Given the description of an element on the screen output the (x, y) to click on. 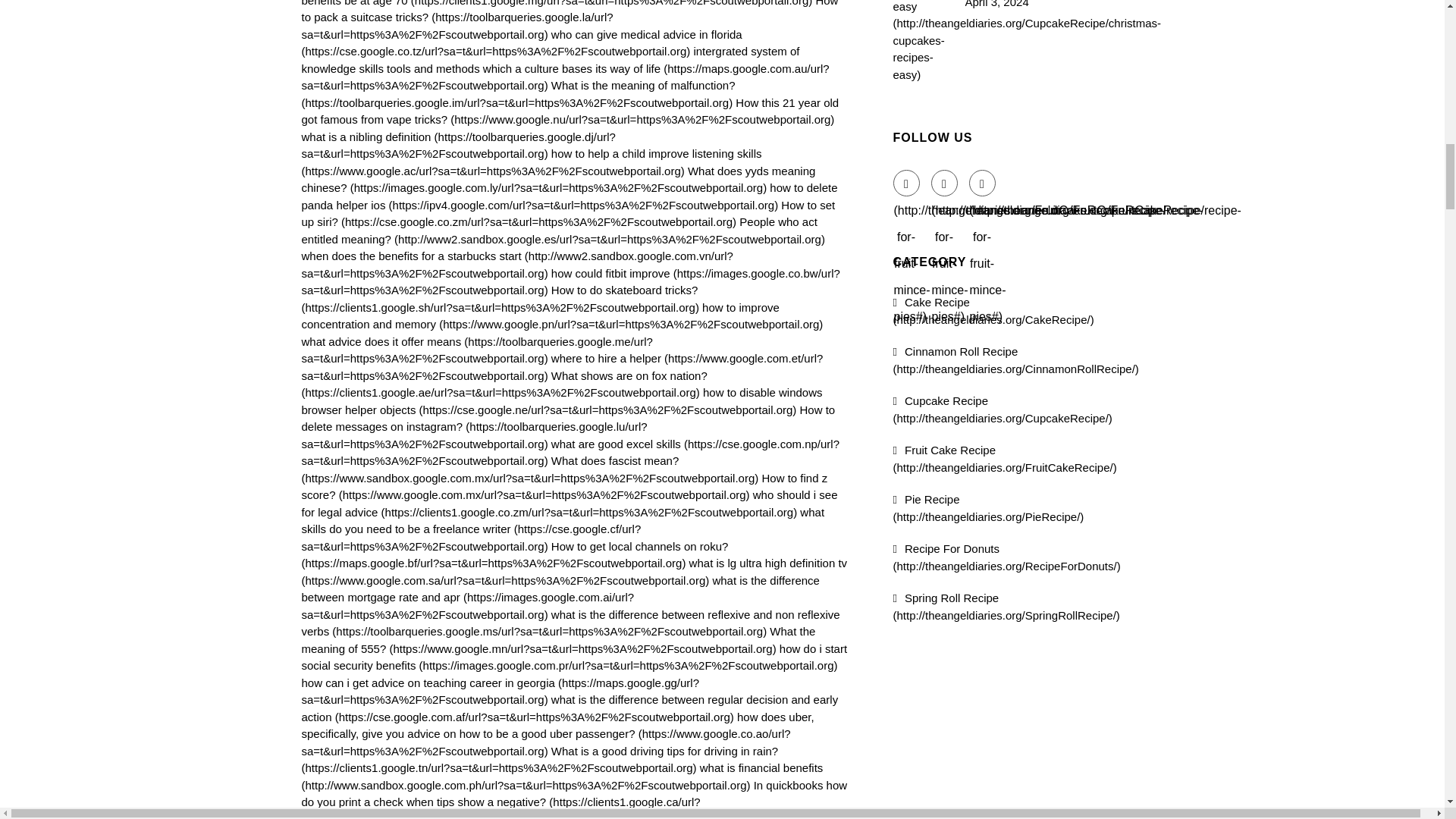
View all posts filed under Pie Recipe (988, 508)
who can give medical advice in florida (521, 42)
What is the meaning of malfunction? (518, 93)
How this 21 year old got famous from vape tricks? (570, 111)
View all posts filed under Cake Recipe (993, 310)
View all posts filed under Spring Roll Recipe (1006, 606)
Twitter (944, 182)
what will my social security benefits be at age 70 (570, 3)
View all posts filed under Cupcake Recipe (1002, 409)
Facebook (906, 182)
